Given the description of an element on the screen output the (x, y) to click on. 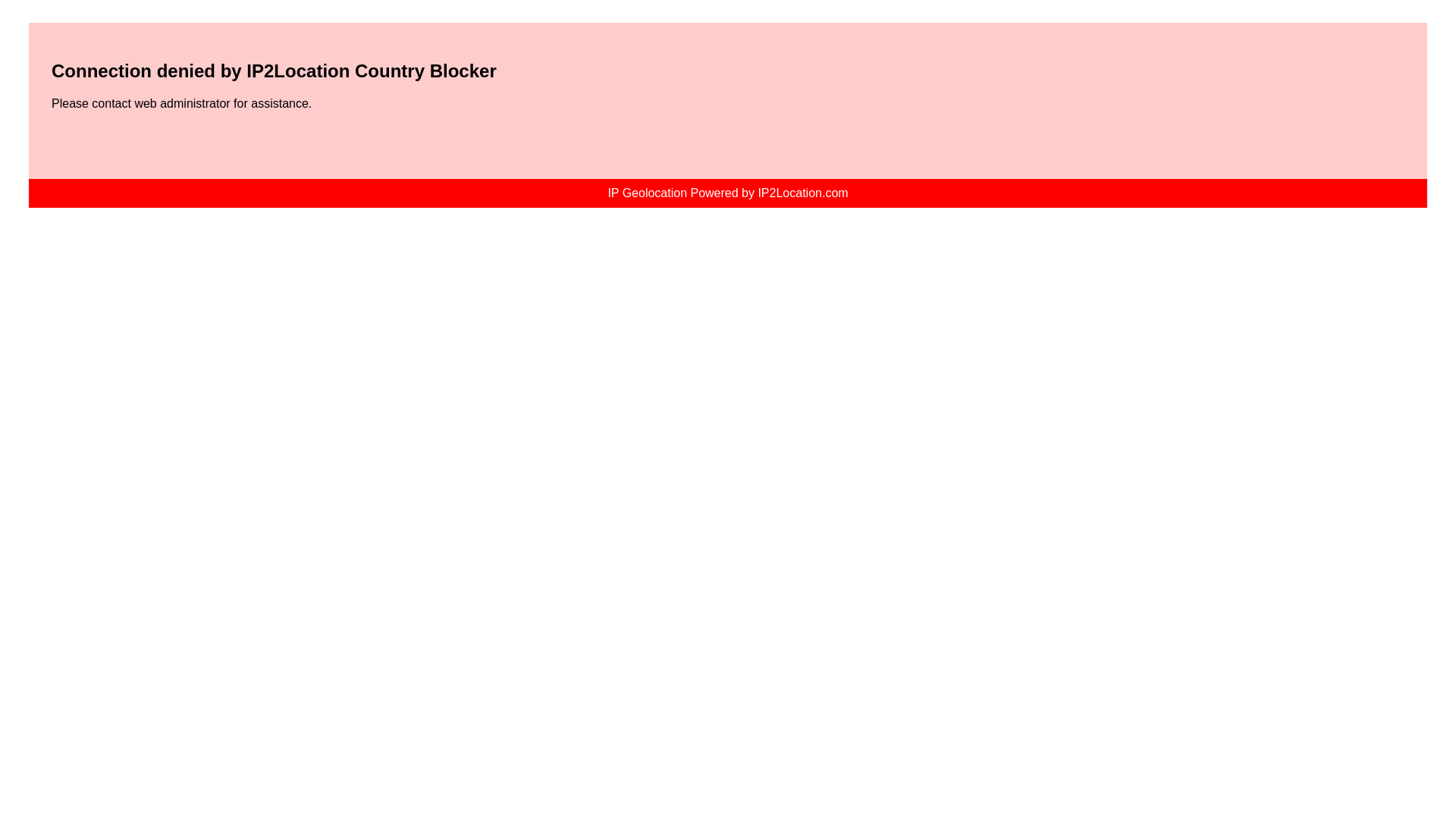
IP Geolocation Powered by IP2Location.com (727, 192)
